Given the description of an element on the screen output the (x, y) to click on. 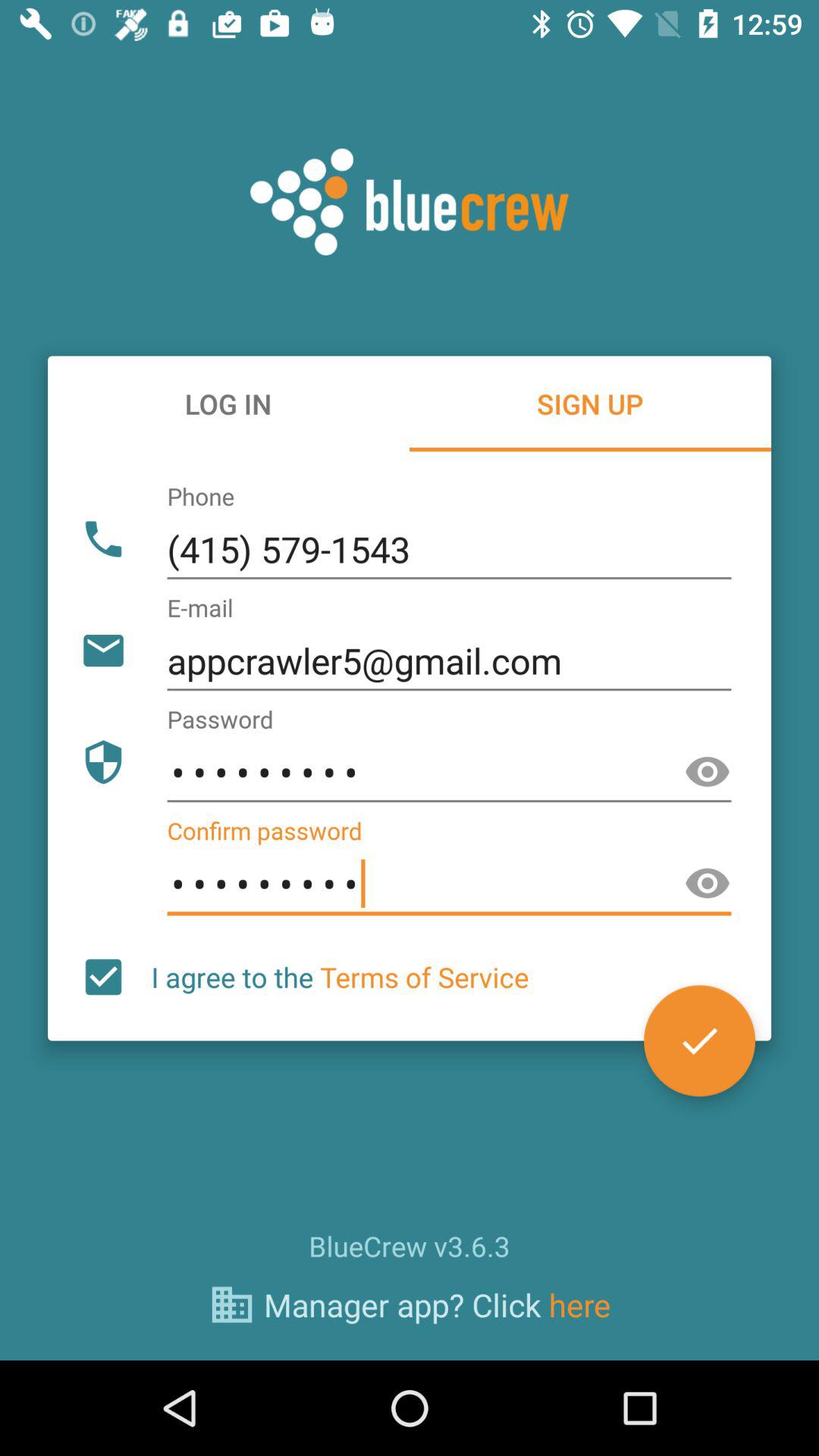
select item next to i agree to item (103, 976)
